Given the description of an element on the screen output the (x, y) to click on. 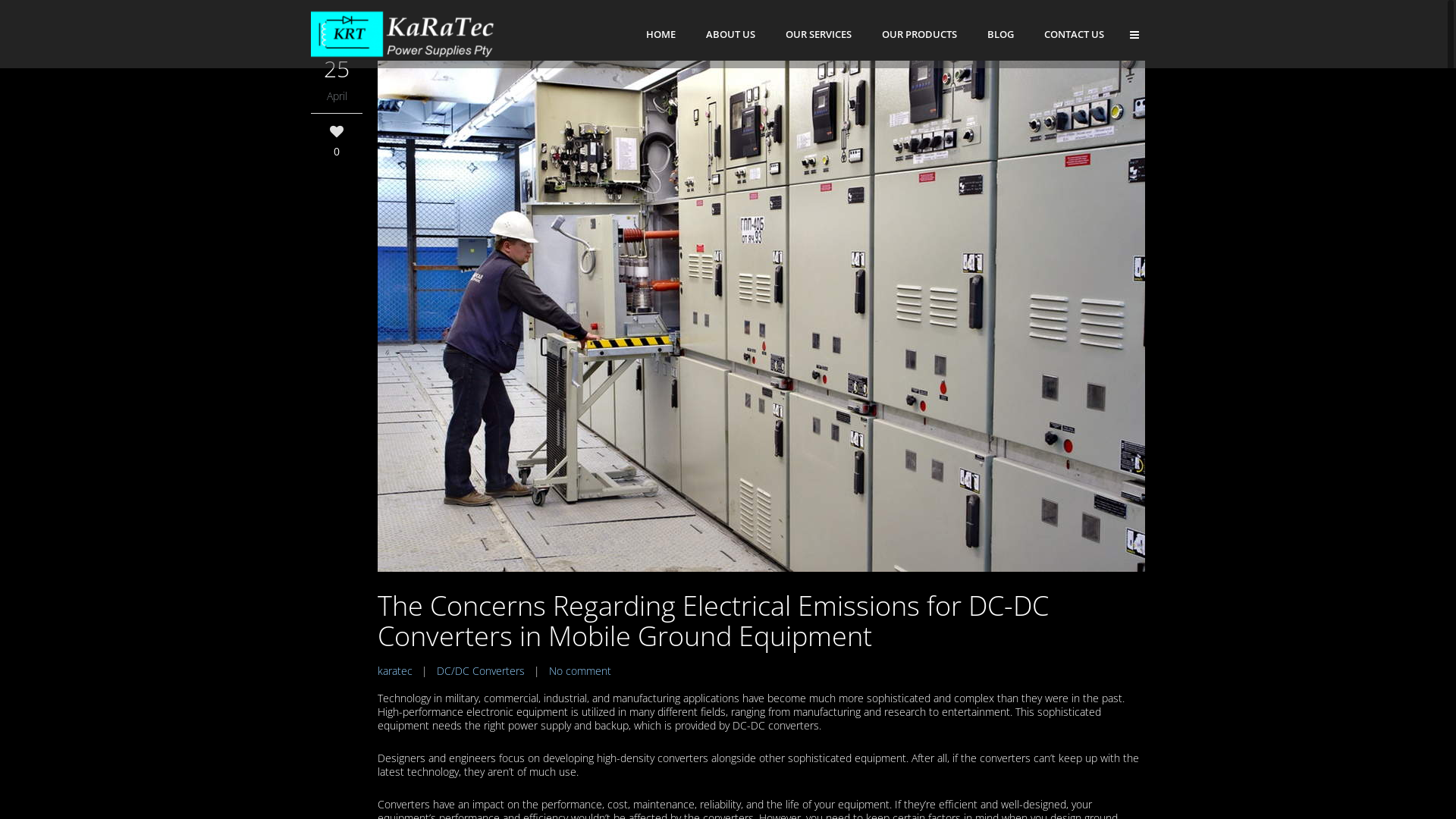
OUR PRODUCTS Element type: text (919, 34)
0 Element type: text (336, 140)
DC/DC Converters Element type: text (480, 670)
HOME Element type: text (660, 34)
No comment Element type: text (580, 670)
BLOG Element type: text (1000, 34)
OUR SERVICES Element type: text (818, 34)
ABOUT US Element type: text (730, 34)
karatec Element type: text (394, 670)
CONTACT US Element type: text (1074, 34)
